Given the description of an element on the screen output the (x, y) to click on. 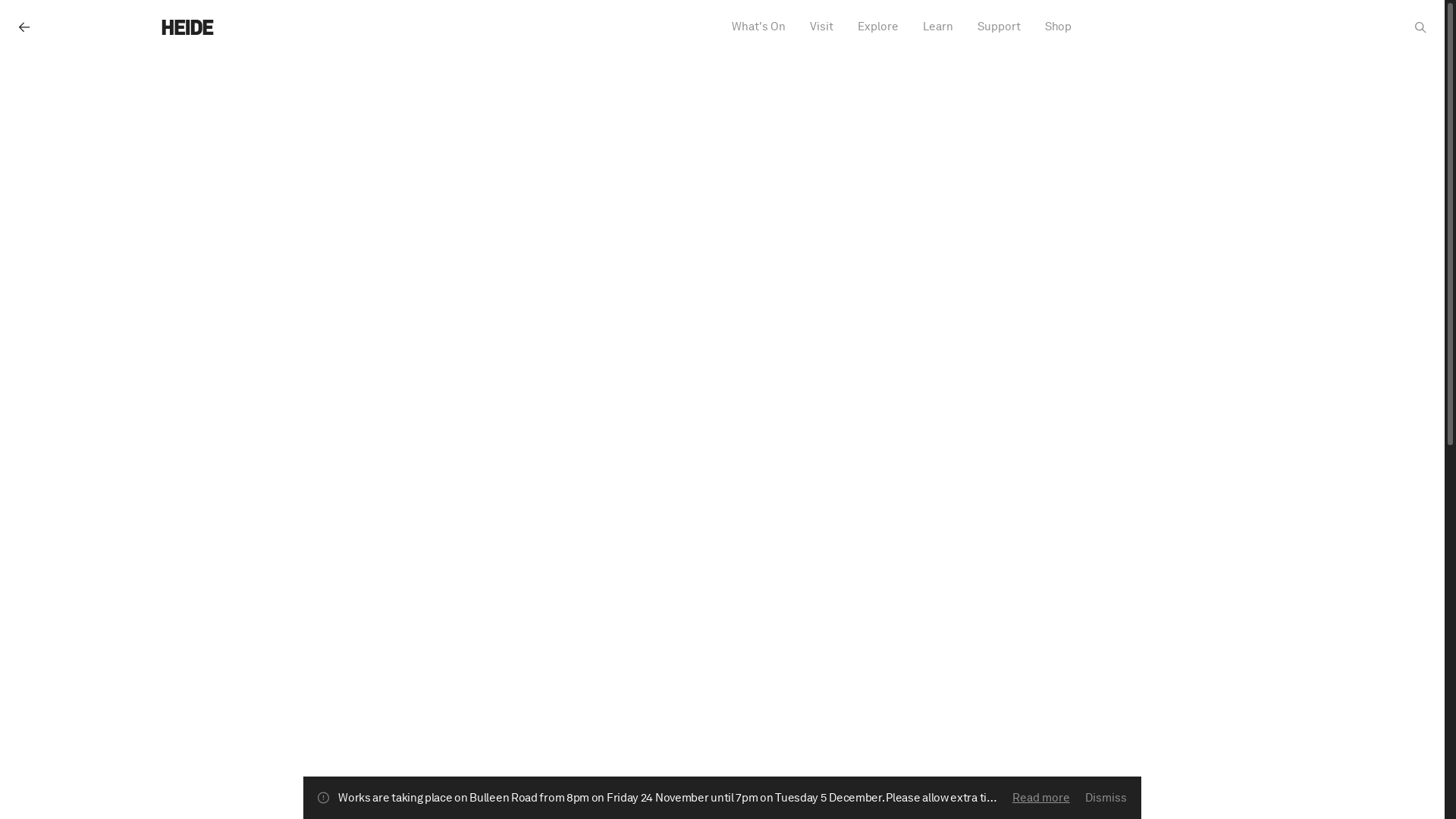
search Element type: hover (1420, 26)
Shop Element type: text (1057, 26)
Support Element type: text (997, 26)
Visit Element type: text (821, 26)
Explore Element type: text (876, 26)
Learn Element type: text (937, 26)
Dismiss Element type: text (1105, 798)
Read more Element type: text (1041, 797)
What's On Element type: text (757, 26)
